Given the description of an element on the screen output the (x, y) to click on. 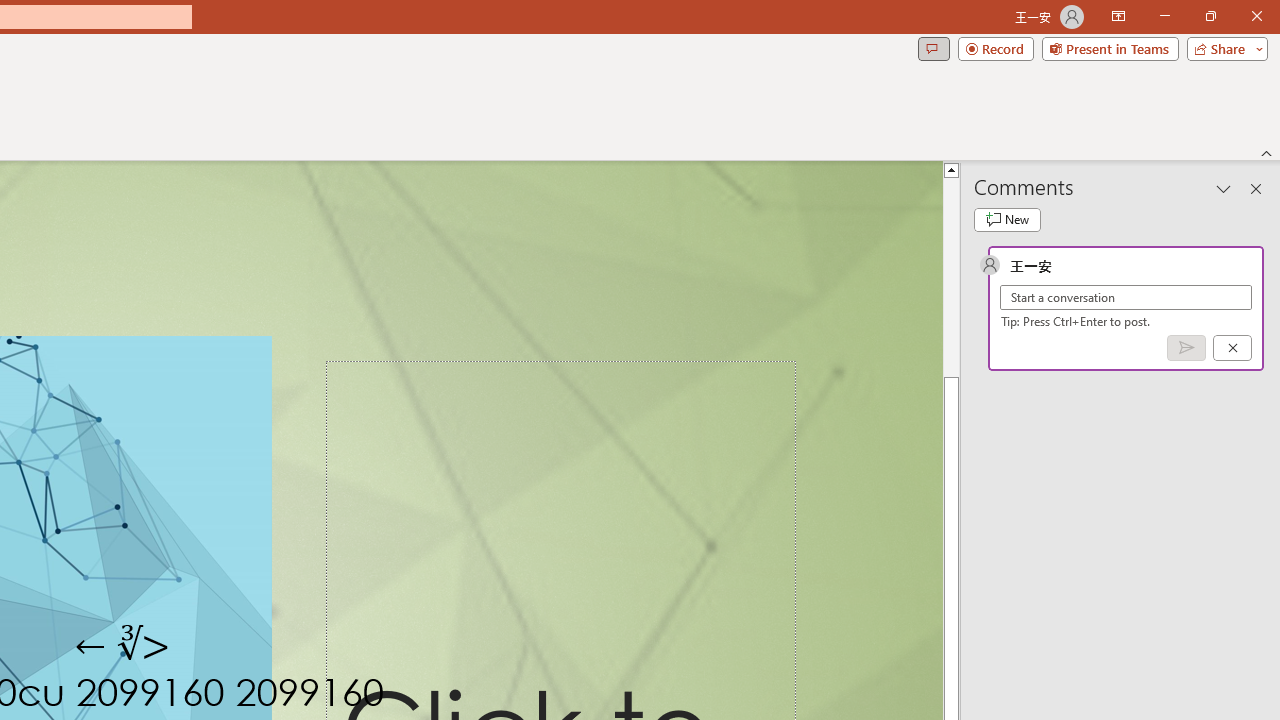
TextBox 7 (123, 645)
New comment (1007, 219)
Start a conversation (1126, 297)
Post comment (Ctrl + Enter) (1186, 347)
